Given the description of an element on the screen output the (x, y) to click on. 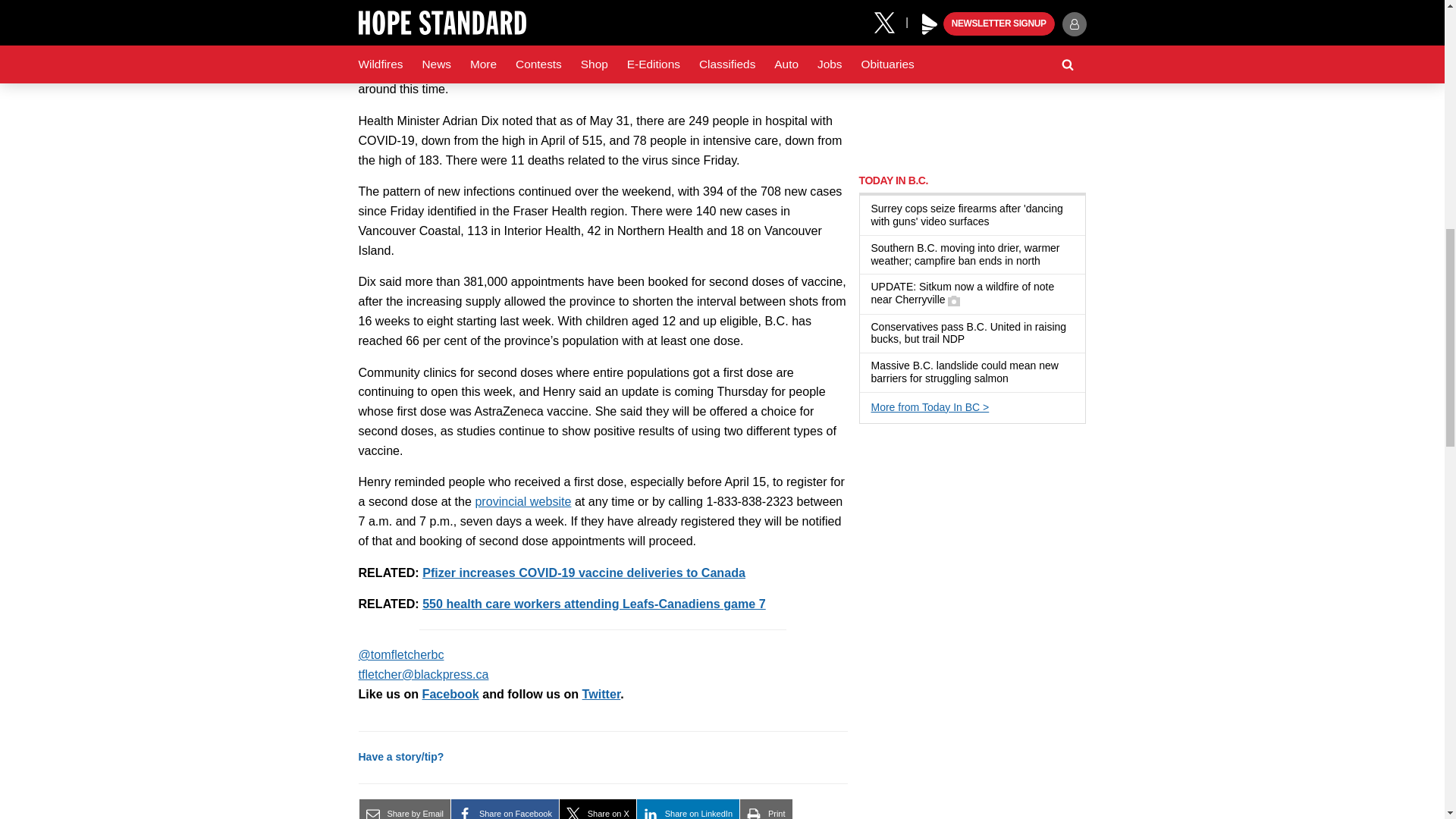
Has a gallery (953, 300)
